Given the description of an element on the screen output the (x, y) to click on. 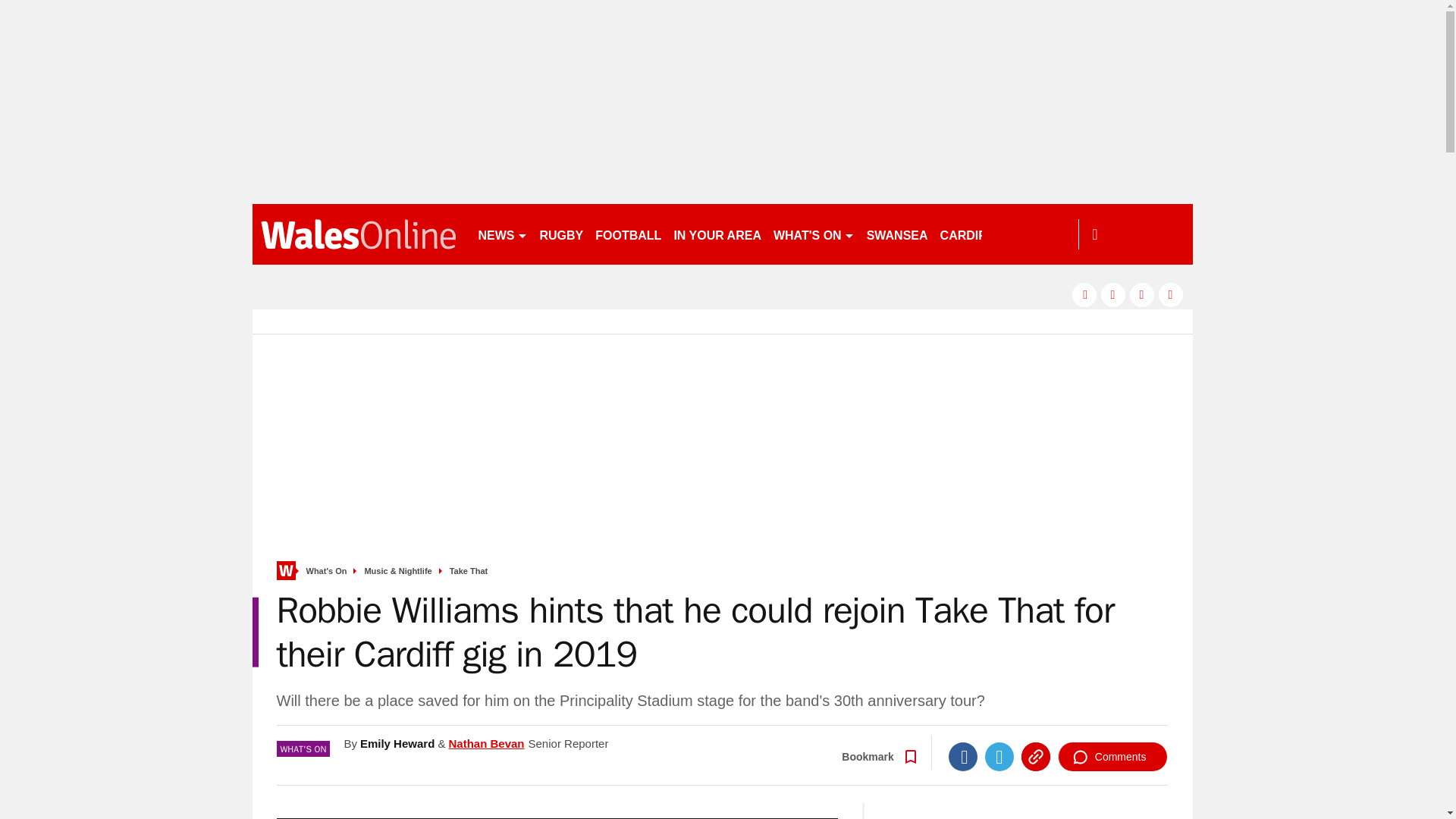
facebook (1083, 294)
IN YOUR AREA (716, 233)
Twitter (999, 756)
walesonline (357, 233)
pinterest (1141, 294)
NEWS (501, 233)
RUGBY (561, 233)
instagram (1170, 294)
Facebook (962, 756)
SWANSEA (897, 233)
WHAT'S ON (813, 233)
Comments (1112, 756)
twitter (1112, 294)
FOOTBALL (627, 233)
